Given the description of an element on the screen output the (x, y) to click on. 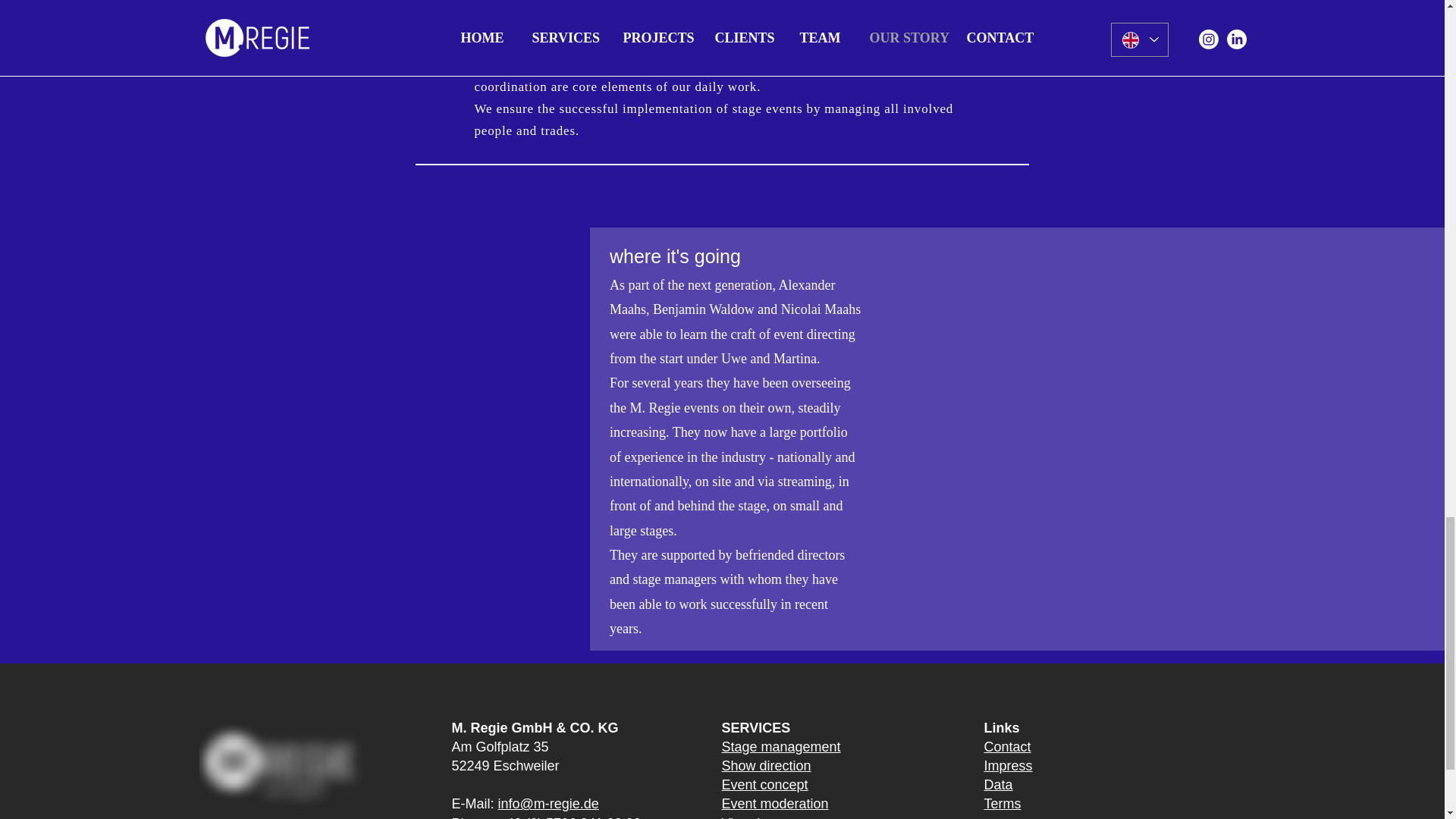
Impress (1008, 765)
Show direction (766, 765)
Terms (1003, 803)
Contact (1007, 746)
Event concept (765, 784)
Event moderation (775, 803)
Stage management (781, 746)
Virtual events (763, 817)
Data (998, 784)
